Given the description of an element on the screen output the (x, y) to click on. 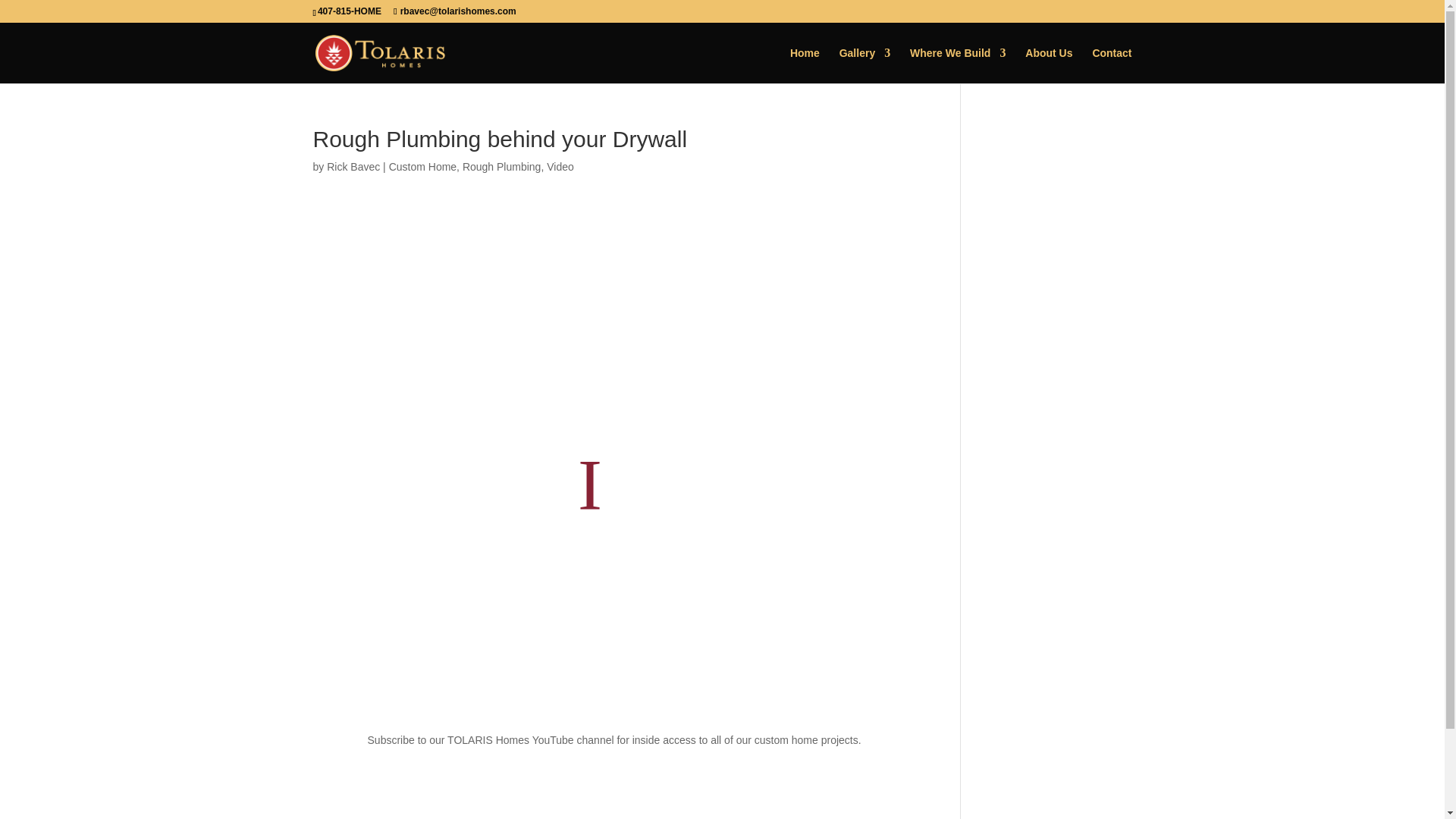
Rick Bavec (353, 166)
Tolaris Homes Gallery (864, 65)
Contact (1111, 65)
Custom Home (422, 166)
Where We Build (958, 65)
Video (560, 166)
About Tolaris Homes (1048, 65)
Gallery (864, 65)
Where Do We Build? (958, 65)
About Us (1048, 65)
